Given the description of an element on the screen output the (x, y) to click on. 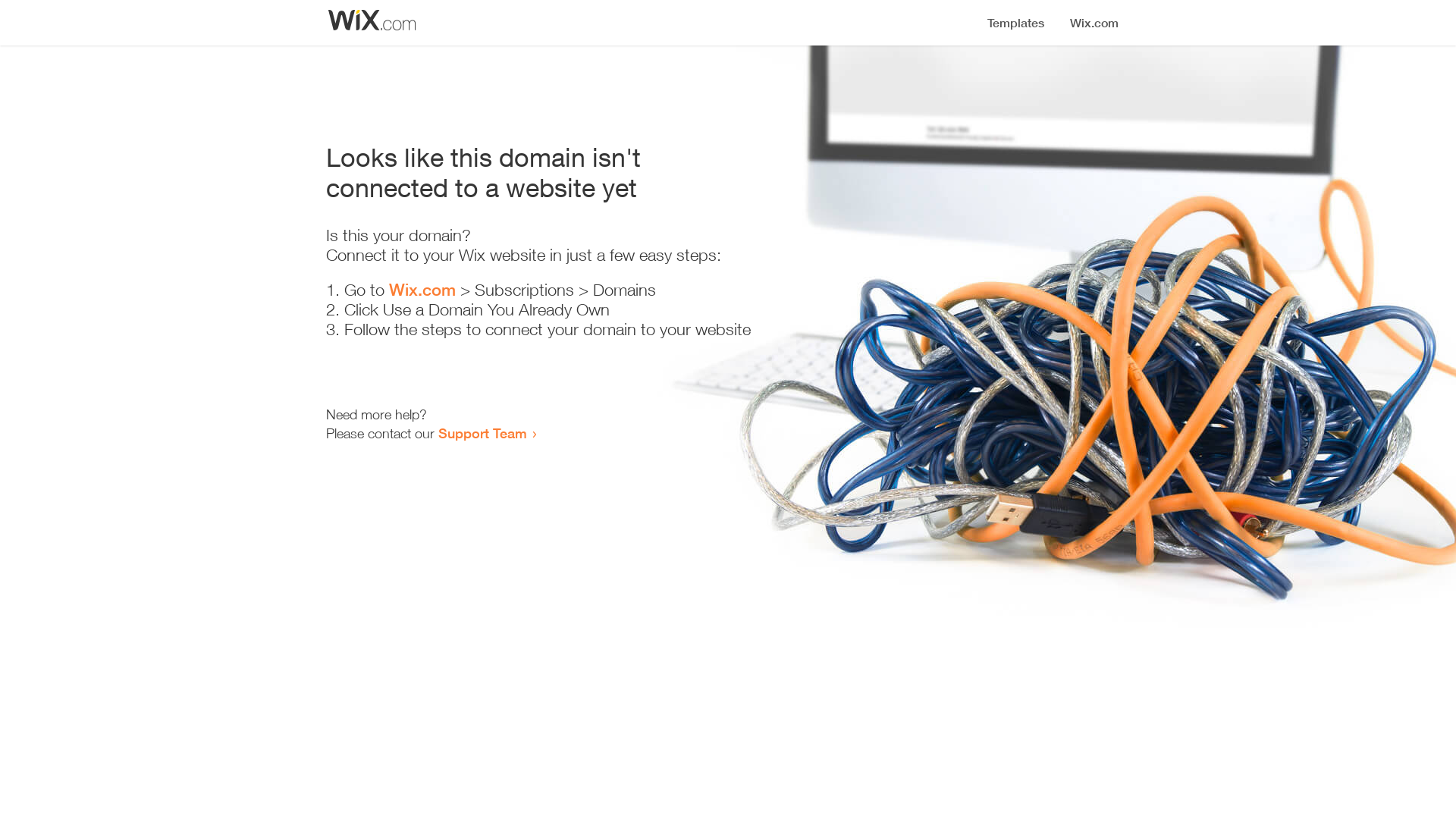
Wix.com Element type: text (422, 289)
Support Team Element type: text (482, 432)
